Given the description of an element on the screen output the (x, y) to click on. 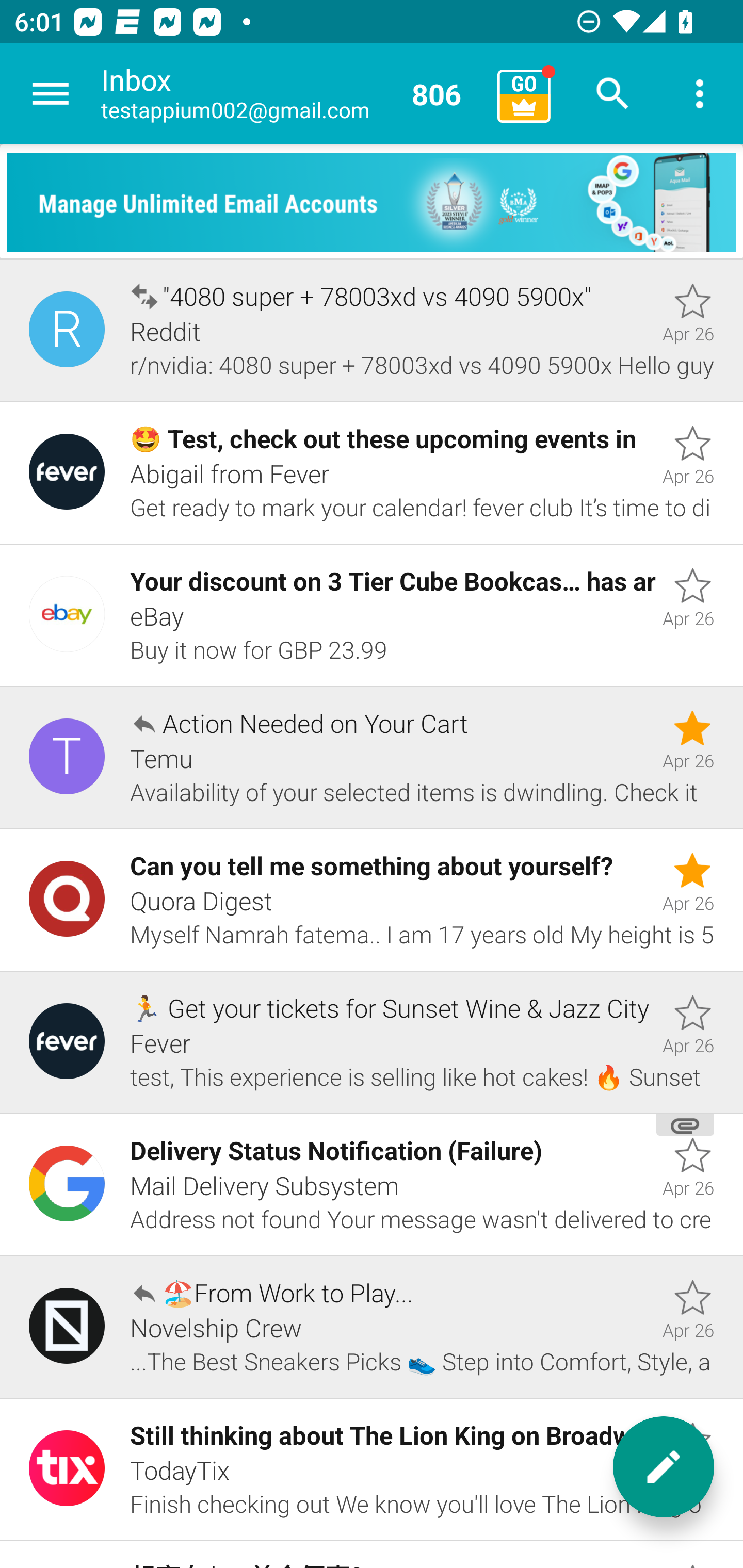
Navigate up (50, 93)
Inbox testappium002@gmail.com 806 (291, 93)
Search (612, 93)
More options (699, 93)
New message (663, 1466)
